Given the description of an element on the screen output the (x, y) to click on. 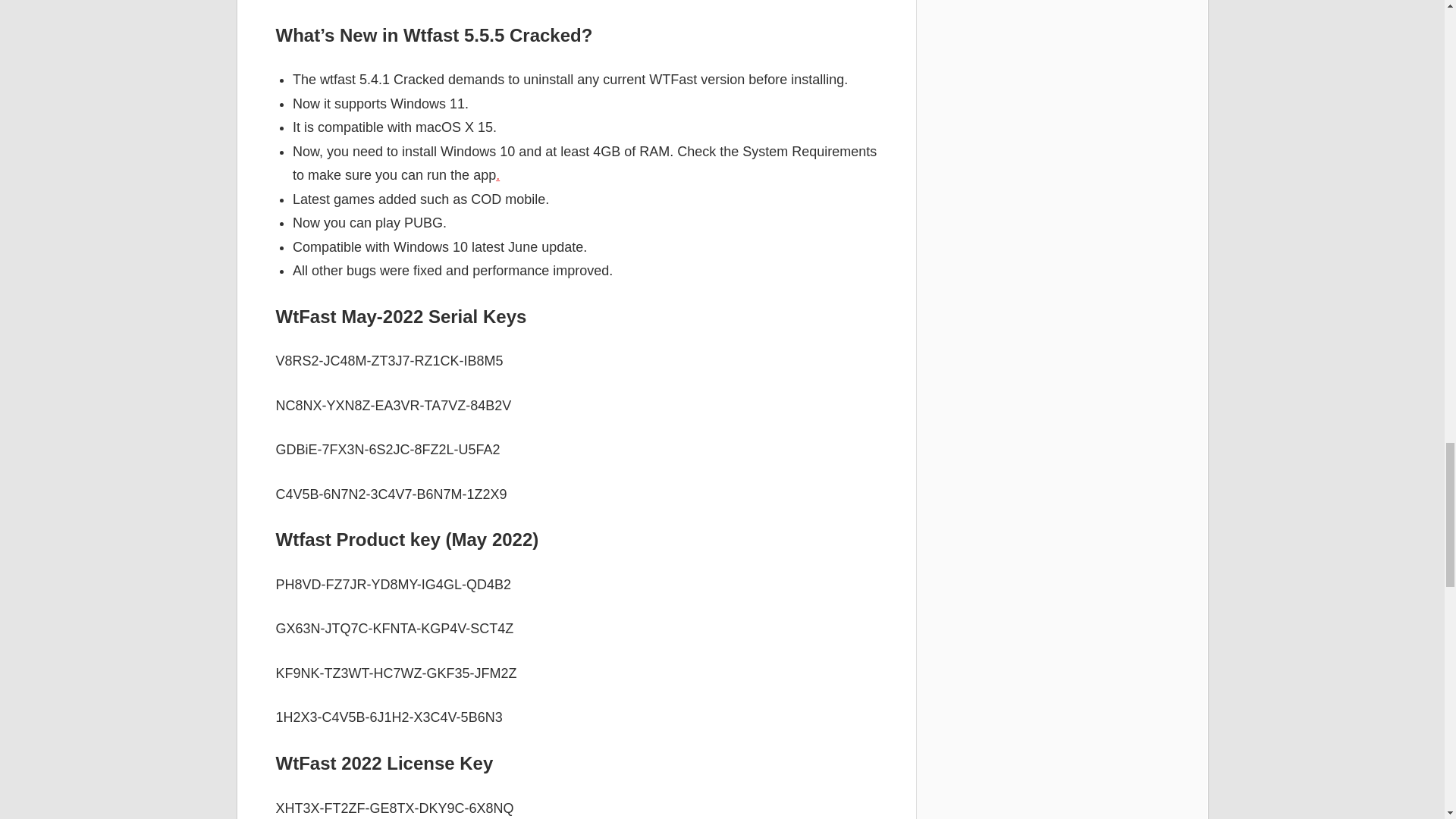
. (497, 174)
